Given the description of an element on the screen output the (x, y) to click on. 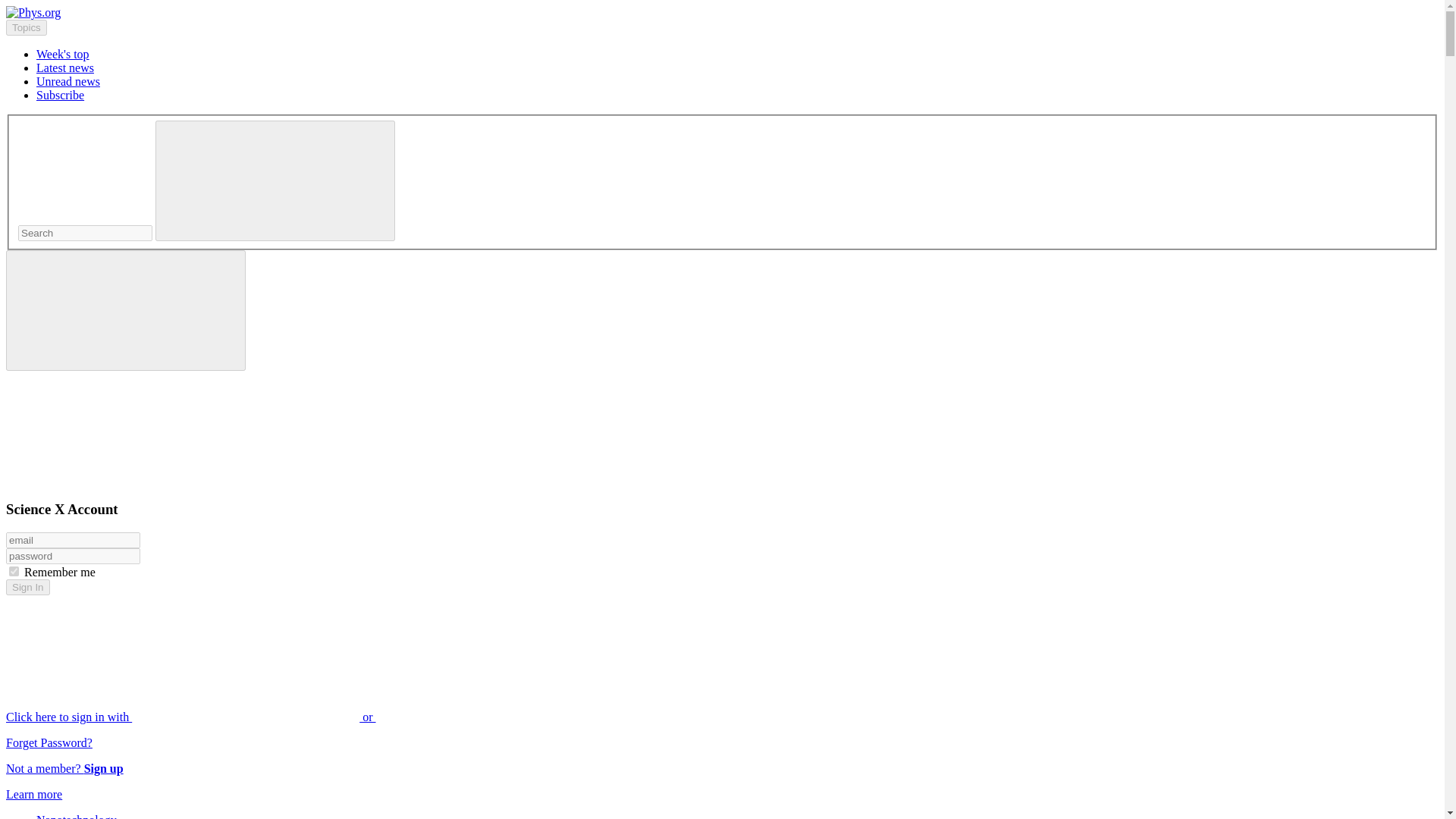
Click here to sign in with or (304, 716)
Topics (25, 27)
Forget Password? (49, 742)
on (13, 571)
Subscribe (60, 94)
Week's top (62, 53)
Not a member? Sign up (64, 768)
Unread news (68, 81)
Learn more (33, 793)
Nanotechnology (76, 816)
